Given the description of an element on the screen output the (x, y) to click on. 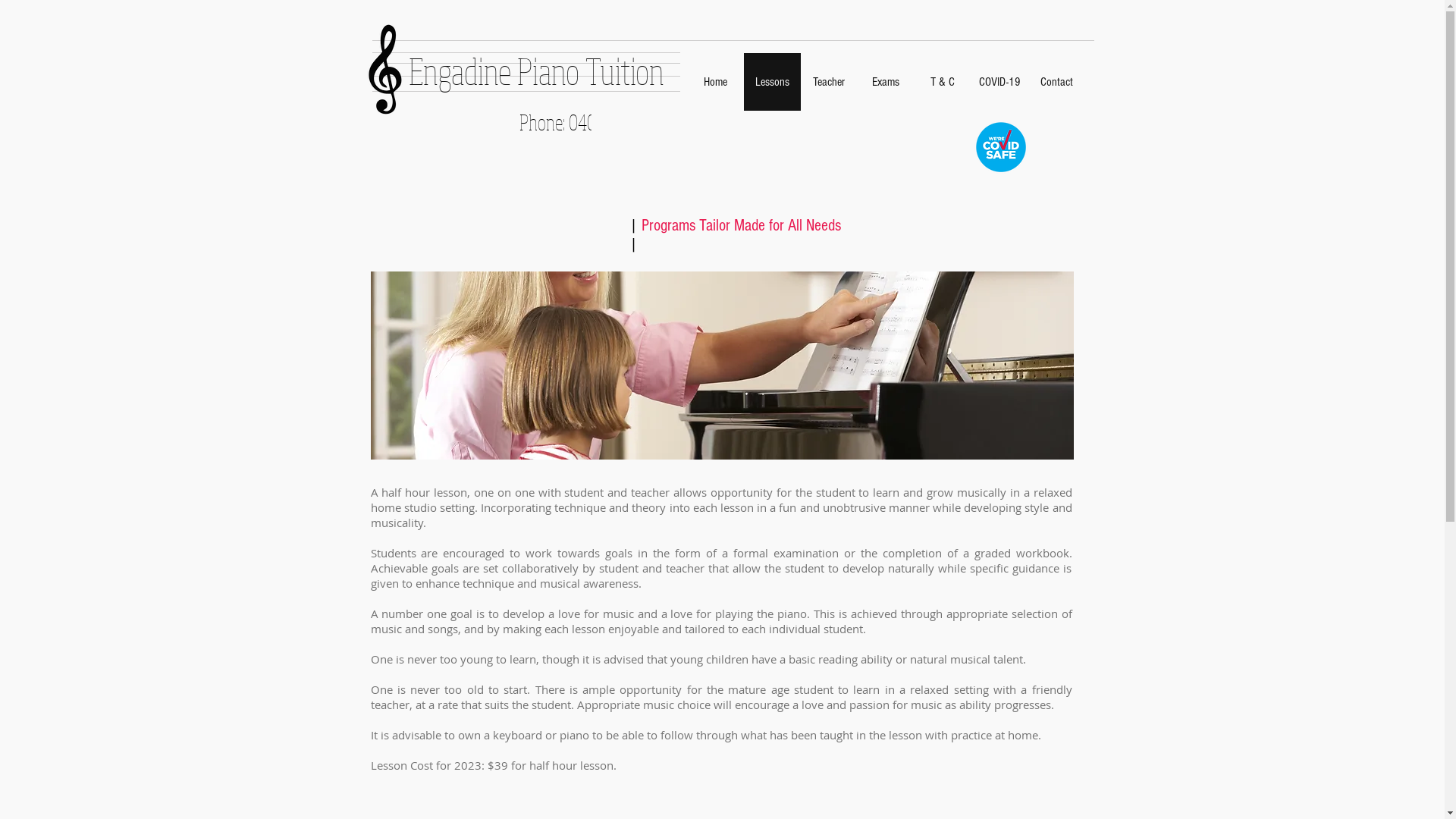
T & C Element type: text (942, 81)
Exams Element type: text (884, 81)
COVID-19 Element type: text (998, 81)
Lessons Element type: text (771, 81)
Engadine Piano Tuition Element type: text (535, 70)
Teacher Element type: text (828, 81)
Contact Element type: text (1056, 81)
Home Element type: text (715, 81)
